Given the description of an element on the screen output the (x, y) to click on. 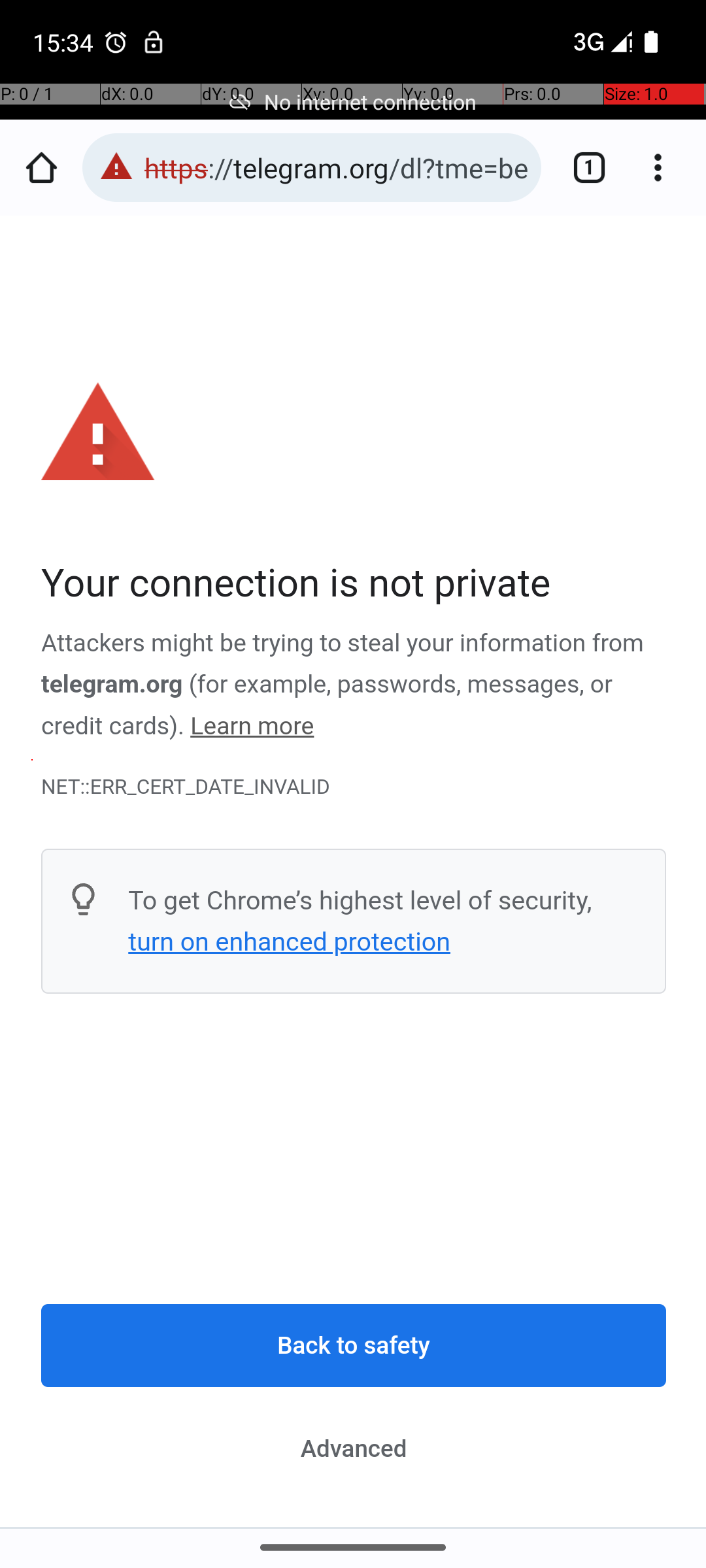
https://telegram.org/dl?tme=be25f54f57a3168e0a_1626304079493331251 Element type: android.widget.EditText (335, 167)
telegram.org Element type: android.widget.TextView (112, 684)
